Given the description of an element on the screen output the (x, y) to click on. 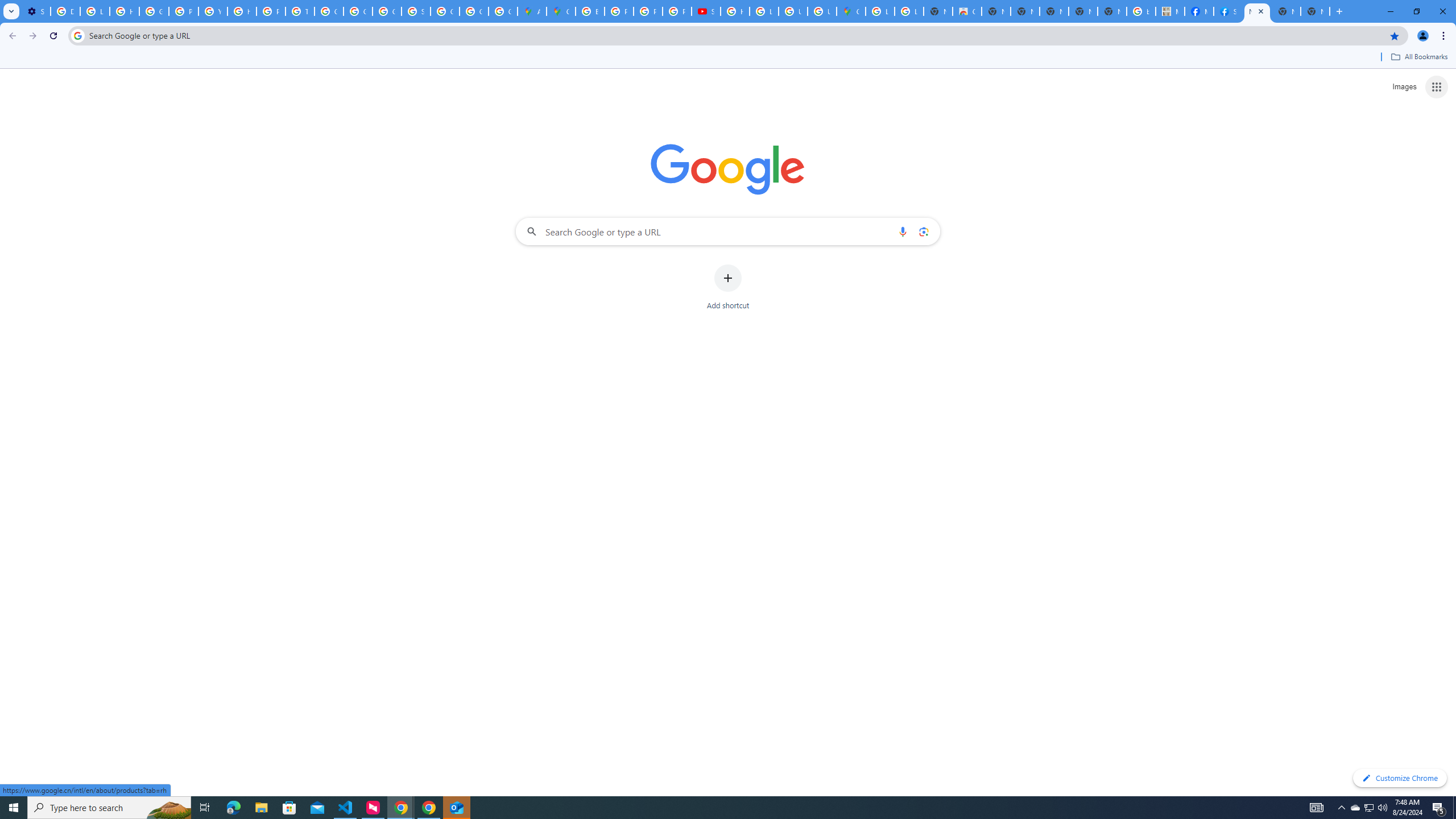
Google Maps (560, 11)
MILEY CYRUS. (1169, 11)
Google Maps (850, 11)
How Chrome protects your passwords - Google Chrome Help (734, 11)
